Given the description of an element on the screen output the (x, y) to click on. 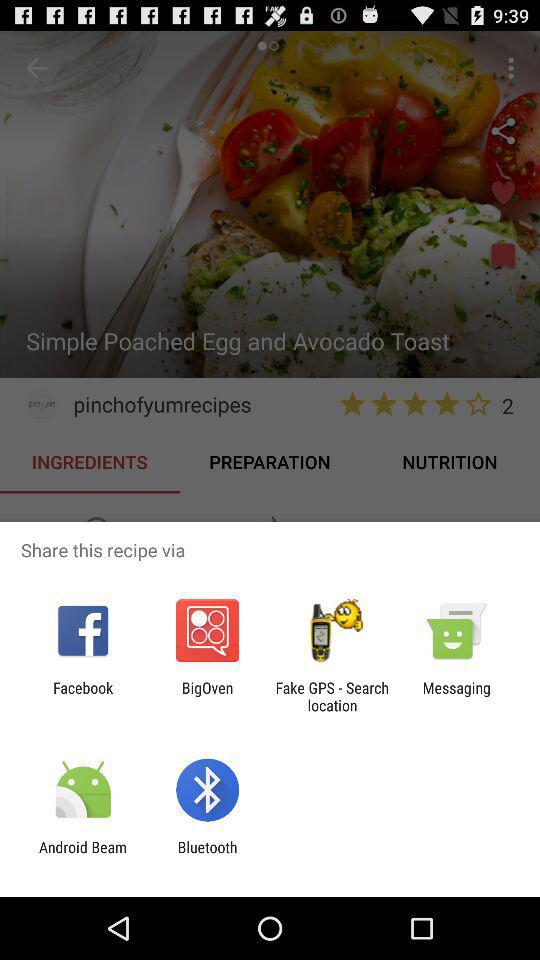
turn off item to the right of android beam icon (207, 856)
